Given the description of an element on the screen output the (x, y) to click on. 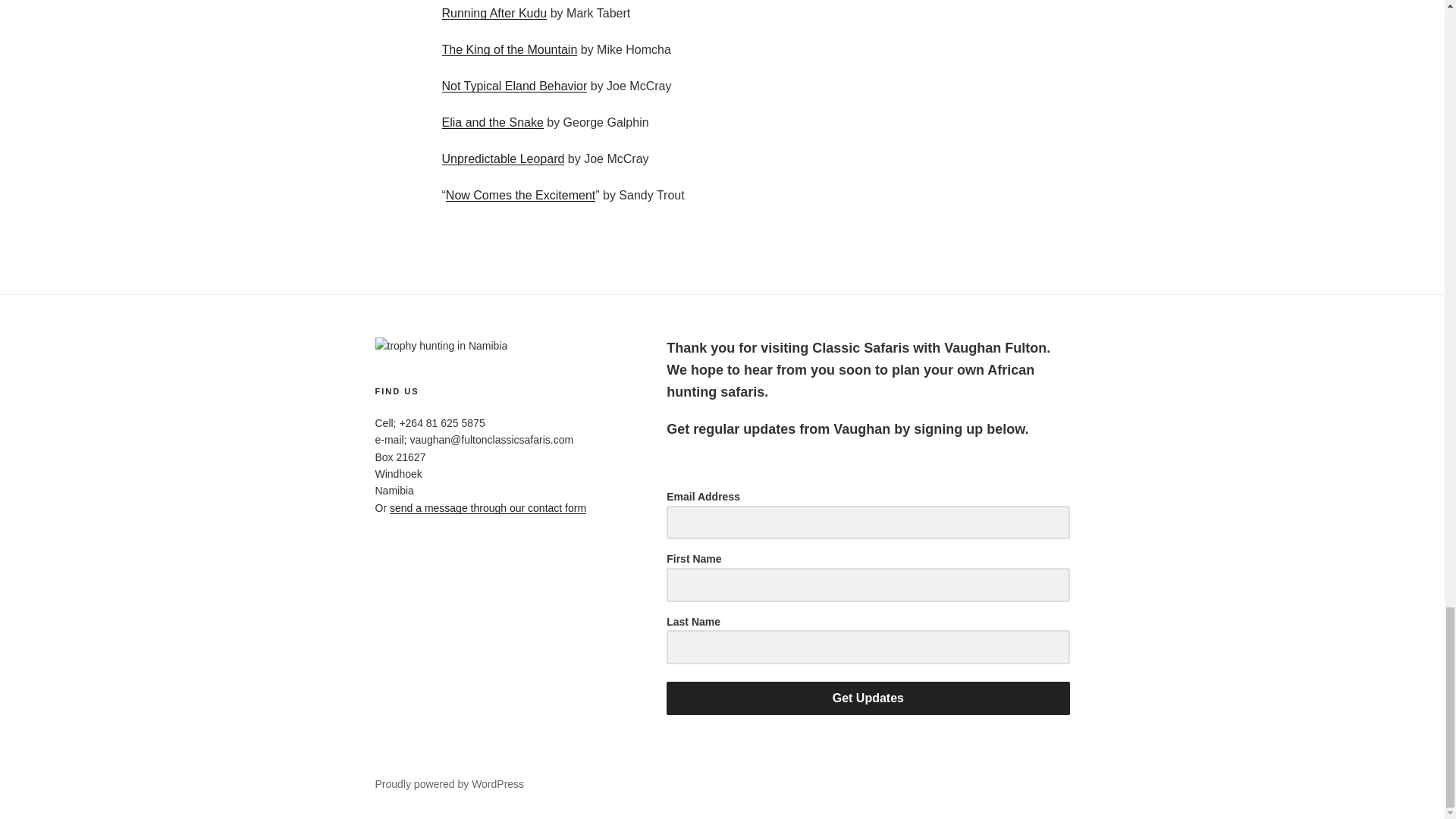
Proudly powered by WordPress (449, 784)
Unpredictable Leopard (502, 158)
Running After Kudu (494, 12)
The King of the Mountain (508, 49)
Not Typical Eland Behavior (513, 85)
send a message through our contact form (488, 508)
Now Comes the Excitement (520, 195)
Get Updates (867, 697)
Elia and the Snake (492, 122)
